Given the description of an element on the screen output the (x, y) to click on. 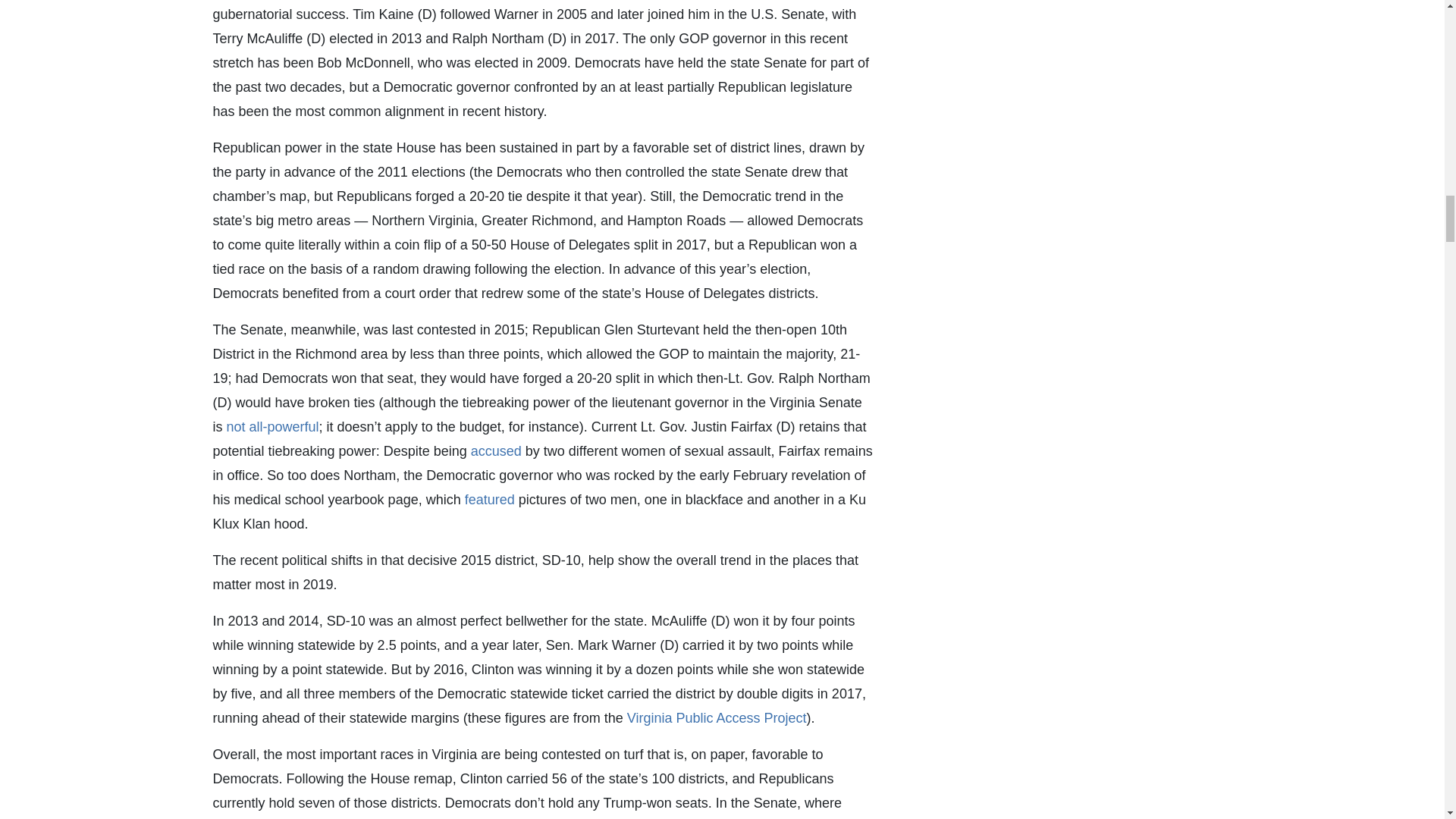
not all-powerful (271, 426)
accused (495, 450)
featured (489, 499)
Virginia Public Access Project (716, 717)
